Given the description of an element on the screen output the (x, y) to click on. 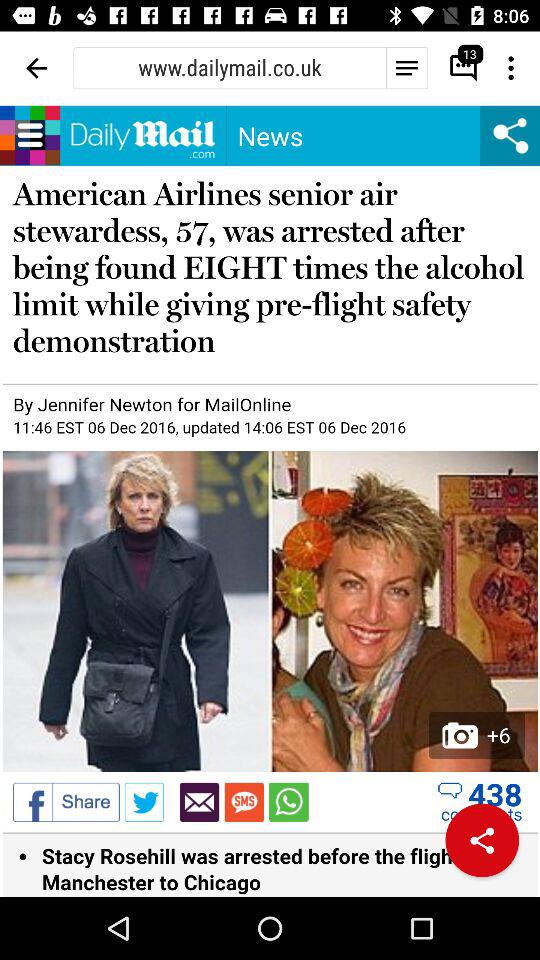
news (270, 501)
